Given the description of an element on the screen output the (x, y) to click on. 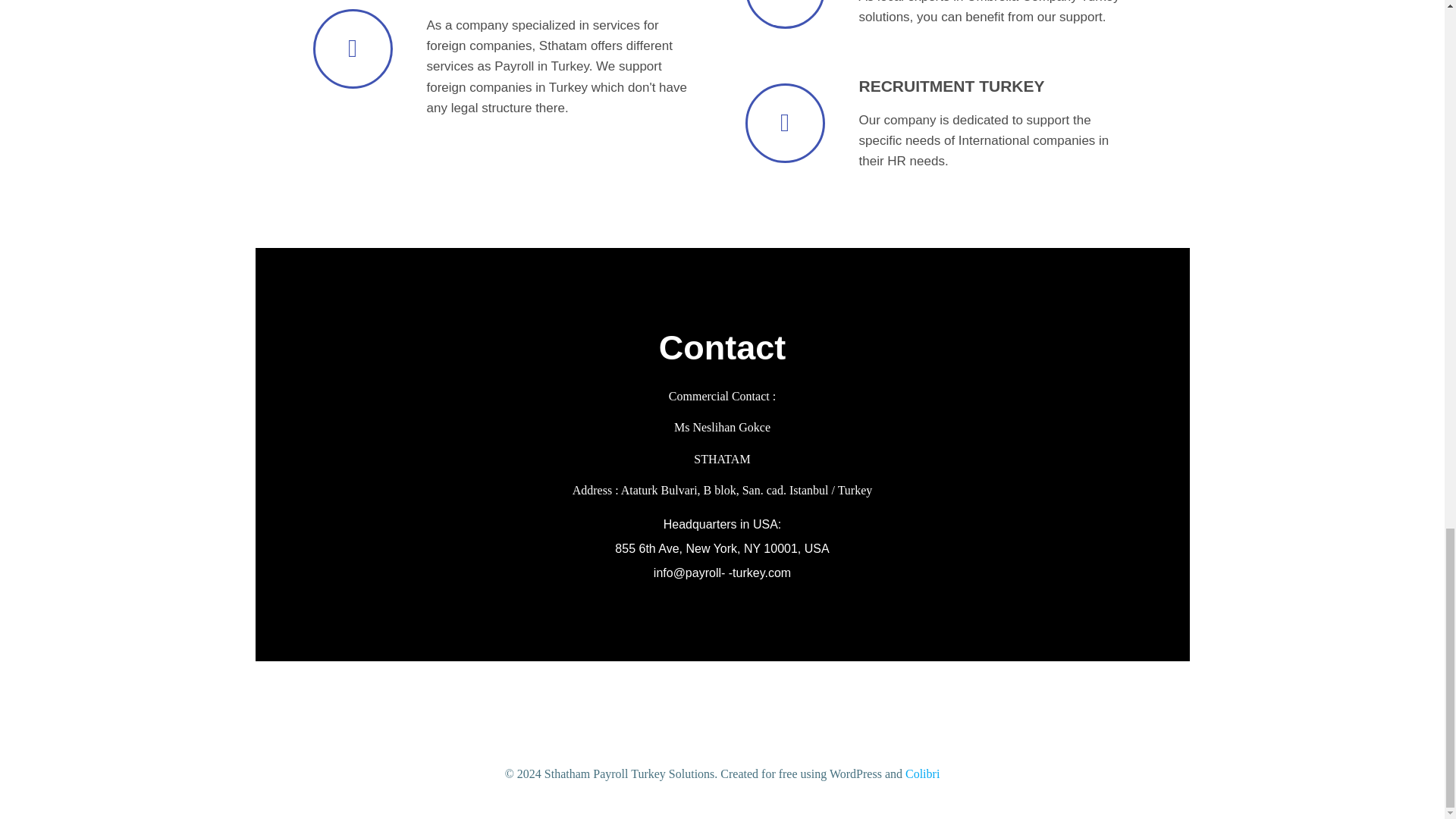
Colibri (922, 773)
RECRUITMENT TURKEY (951, 85)
